Given the description of an element on the screen output the (x, y) to click on. 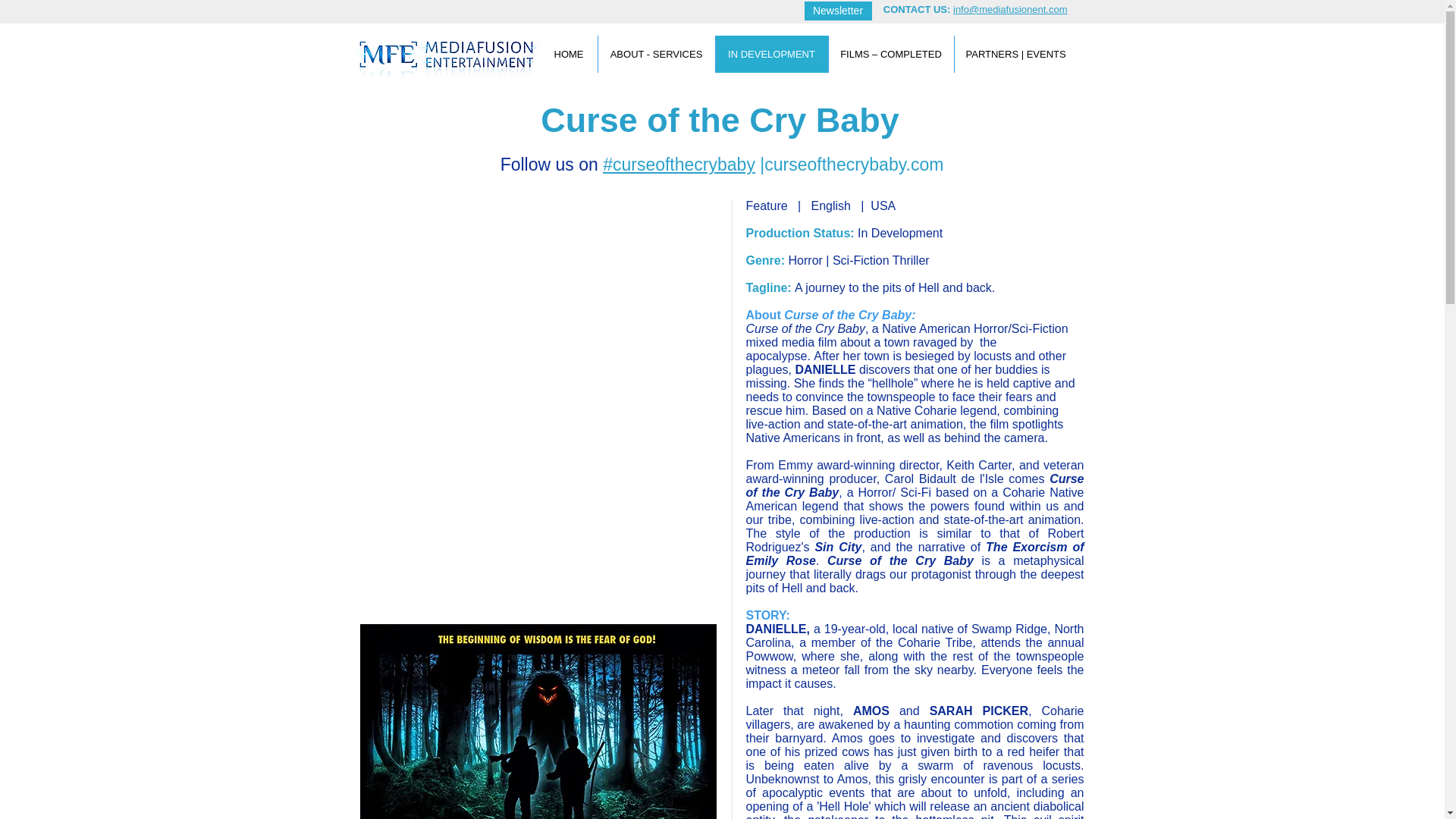
IN DEVELOPMENT (770, 54)
HOME (568, 54)
Newsletter (836, 10)
